Given the description of an element on the screen output the (x, y) to click on. 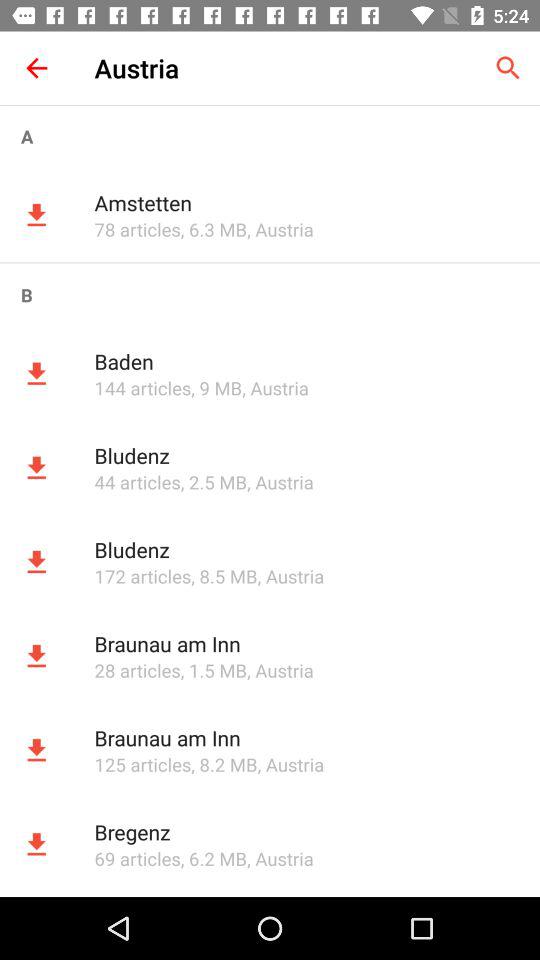
flip until 78 articles icon (137, 229)
